Given the description of an element on the screen output the (x, y) to click on. 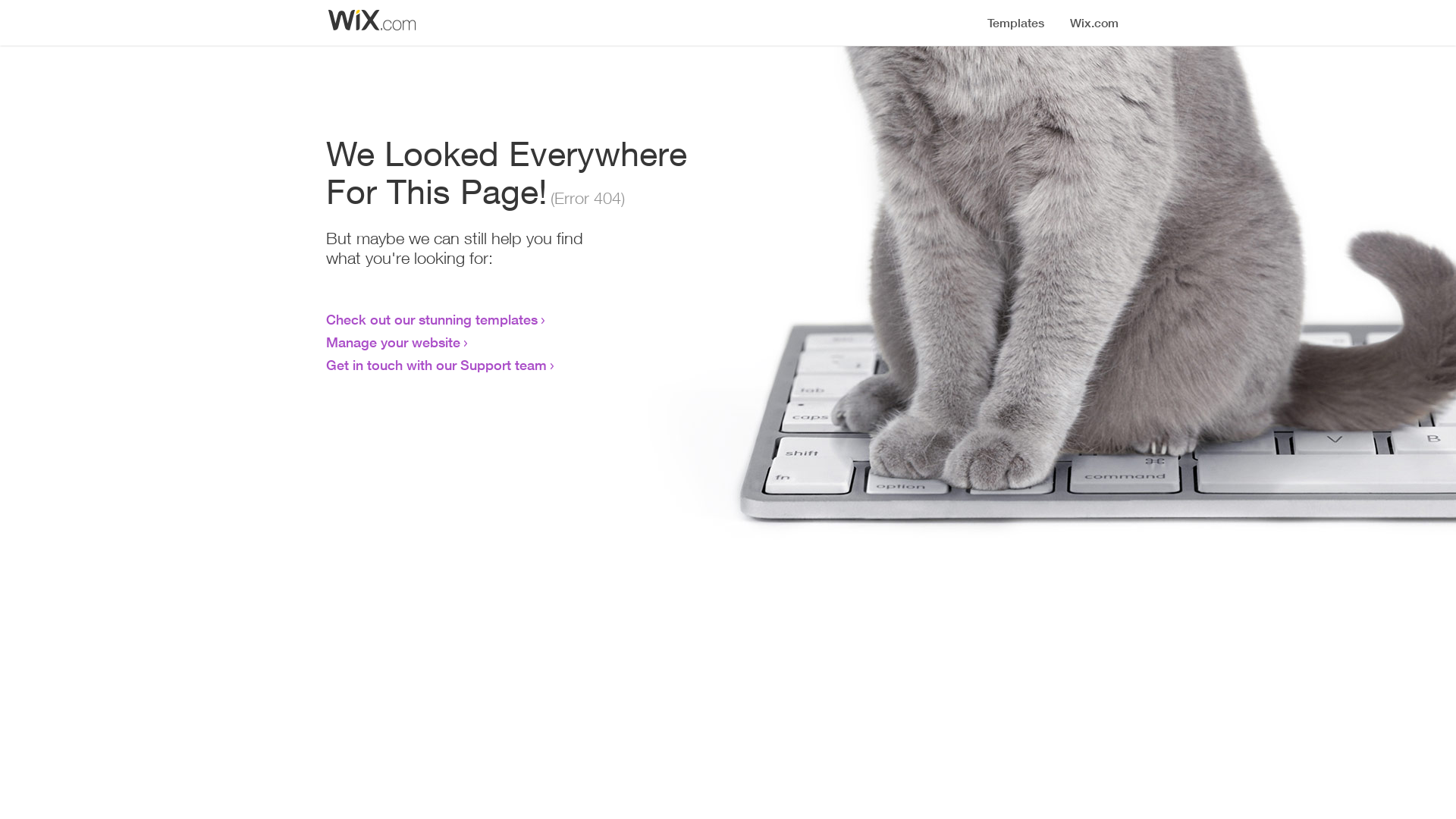
Check out our stunning templates Element type: text (431, 318)
Manage your website Element type: text (393, 341)
Get in touch with our Support team Element type: text (436, 364)
